Given the description of an element on the screen output the (x, y) to click on. 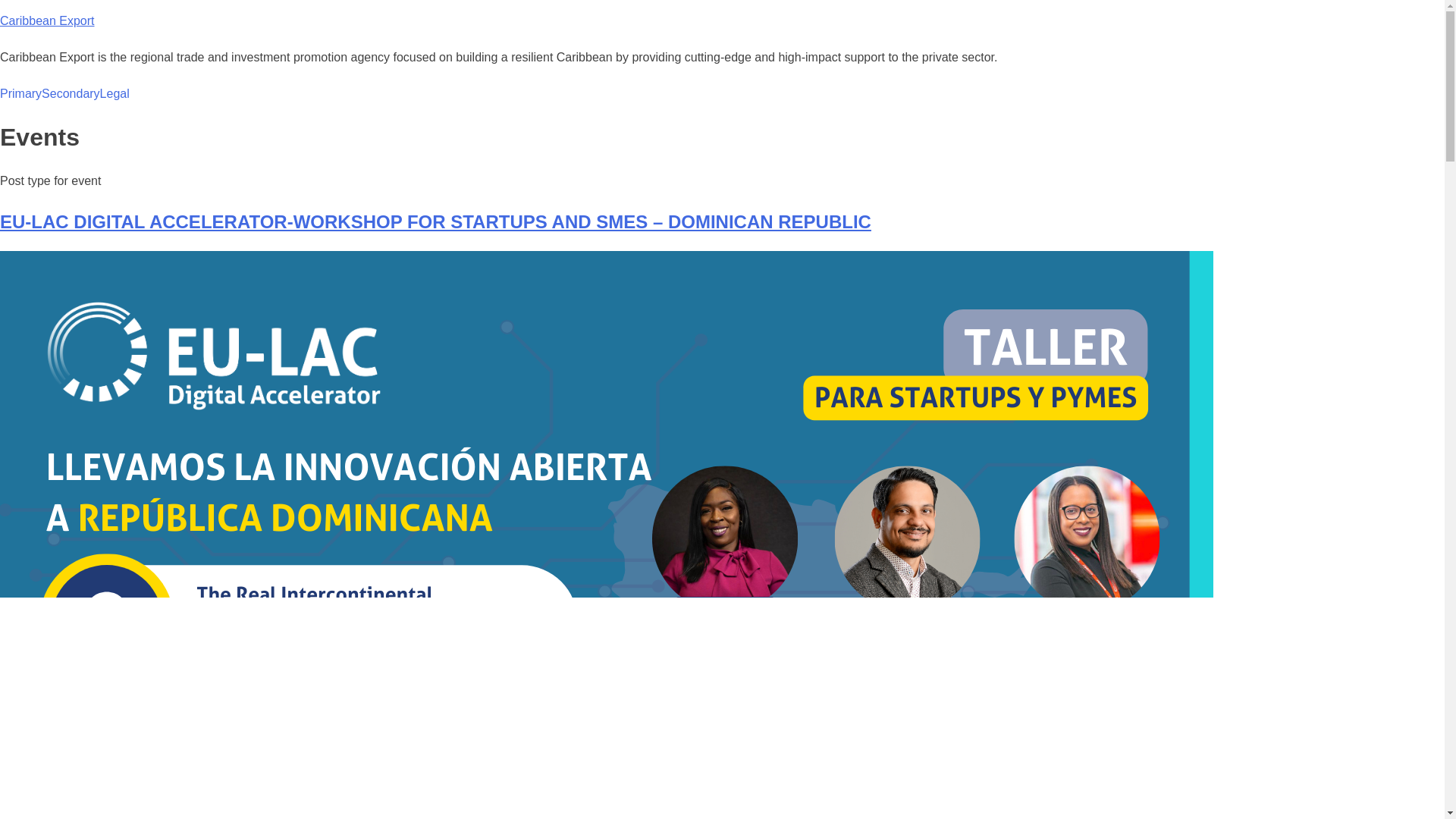
Caribbean Export (47, 20)
Legal (114, 94)
Primary (21, 94)
Secondary (71, 94)
